Given the description of an element on the screen output the (x, y) to click on. 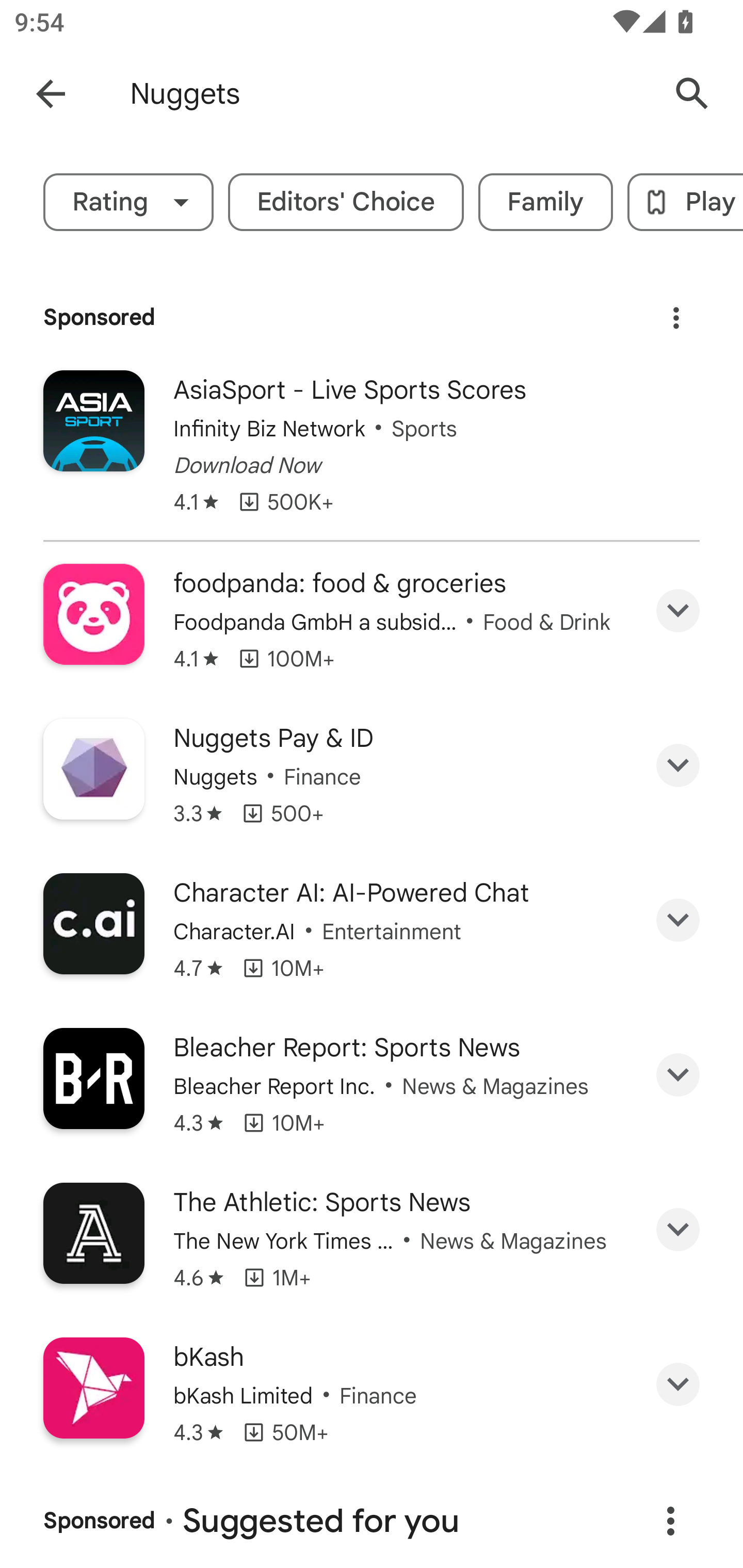
Nuggets (389, 93)
Navigate up (50, 93)
Search Google Play (692, 93)
Rating - double tap to change the filter (128, 202)
Editors' Choice - double tap to toggle the filter (345, 202)
Family - double tap to toggle the filter (545, 202)
Play Pass - double tap to toggle the filter (685, 202)
About this ad (676, 311)
Expand content for foodpanda: food & groceries (677, 610)
Expand content for Nuggets Pay & ID (677, 765)
Expand content for Character AI: AI-Powered Chat (677, 919)
Expand content for Bleacher Report: Sports News (677, 1074)
Expand content for The Athletic: Sports News (677, 1229)
Expand content for bKash (677, 1384)
About this ad (670, 1520)
